Given the description of an element on the screen output the (x, y) to click on. 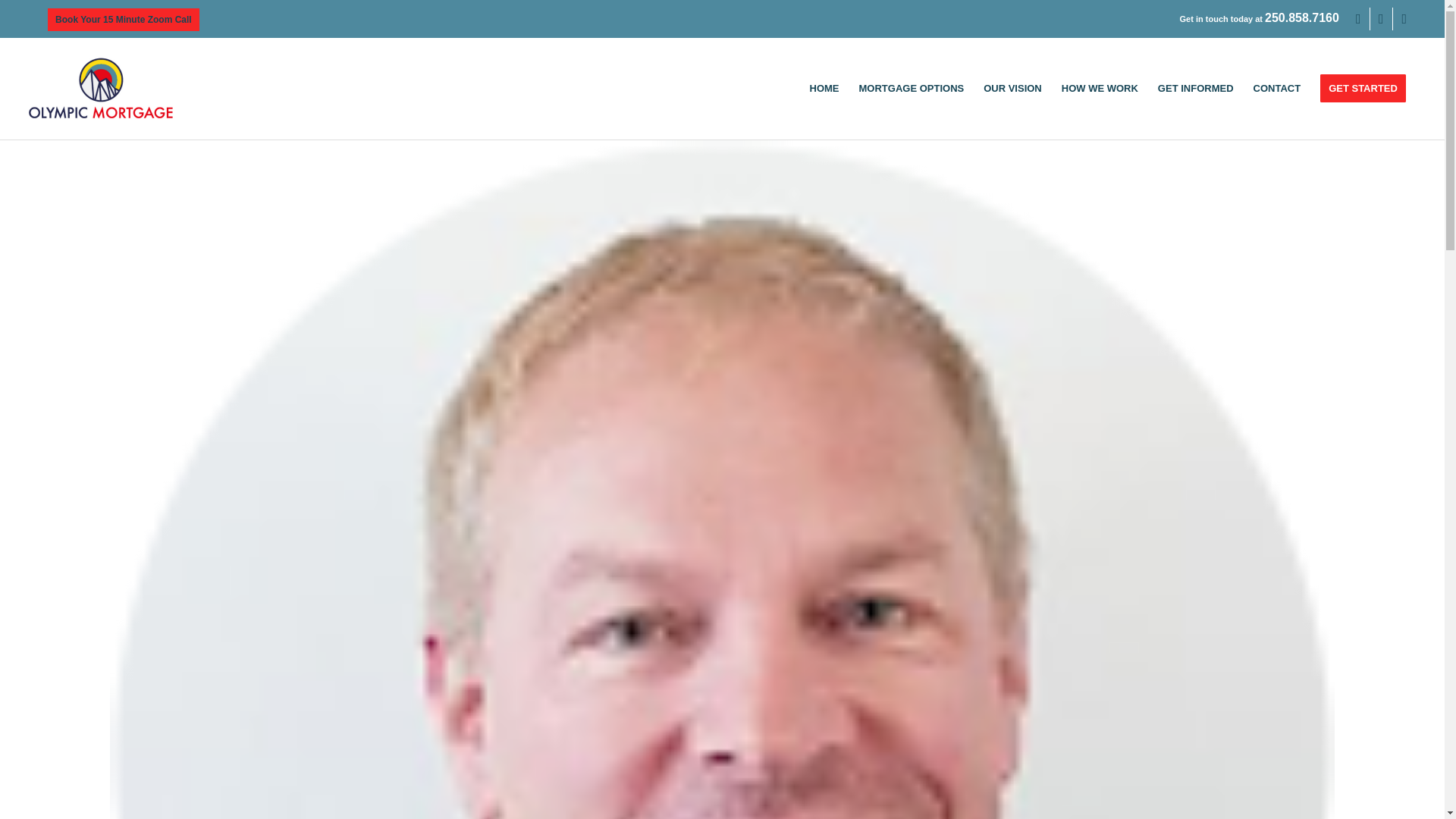
Book Your 15 Minute Zoom Call (123, 19)
HOW WE WORK (1099, 88)
MORTGAGE OPTIONS (911, 88)
GET INFORMED (1195, 88)
Instagram (1380, 18)
TikTok (1404, 18)
OUR VISION (1012, 88)
Facebook (1359, 18)
250.858.7160 (1302, 17)
